Given the description of an element on the screen output the (x, y) to click on. 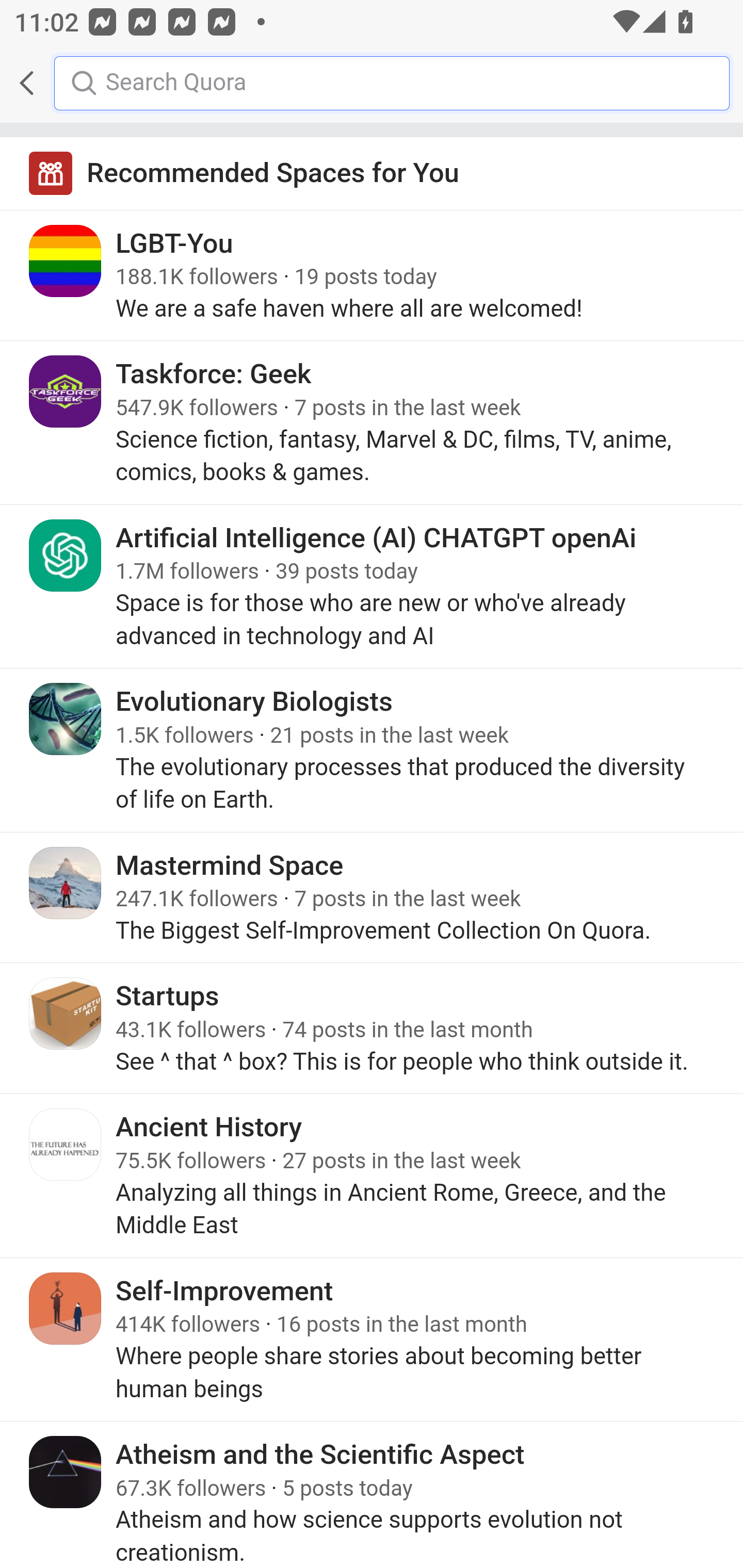
Me Home Search Add (371, 82)
Icon for LGBT-You (65, 260)
Icon for Taskforce: Geek (65, 391)
Icon for Evolutionary Biologists (65, 718)
Icon for Mastermind Space (65, 882)
Icon for Startups (65, 1013)
Icon for Ancient History (65, 1145)
Icon for Self-Improvement (65, 1308)
Icon for Atheism and the Scientific Aspect (65, 1471)
